Given the description of an element on the screen output the (x, y) to click on. 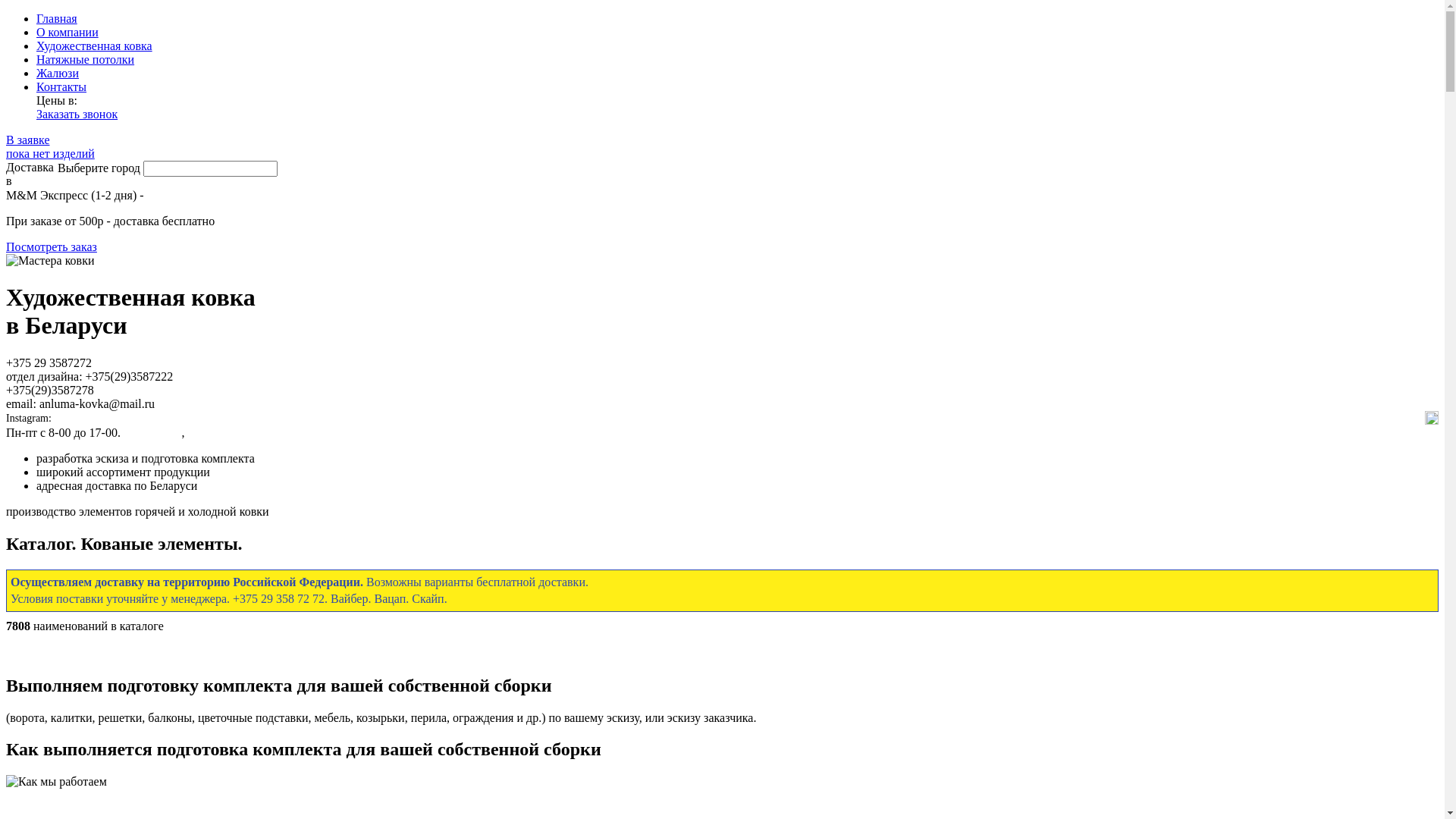
@anluma_kovka Element type: text (89, 417)
